Given the description of an element on the screen output the (x, y) to click on. 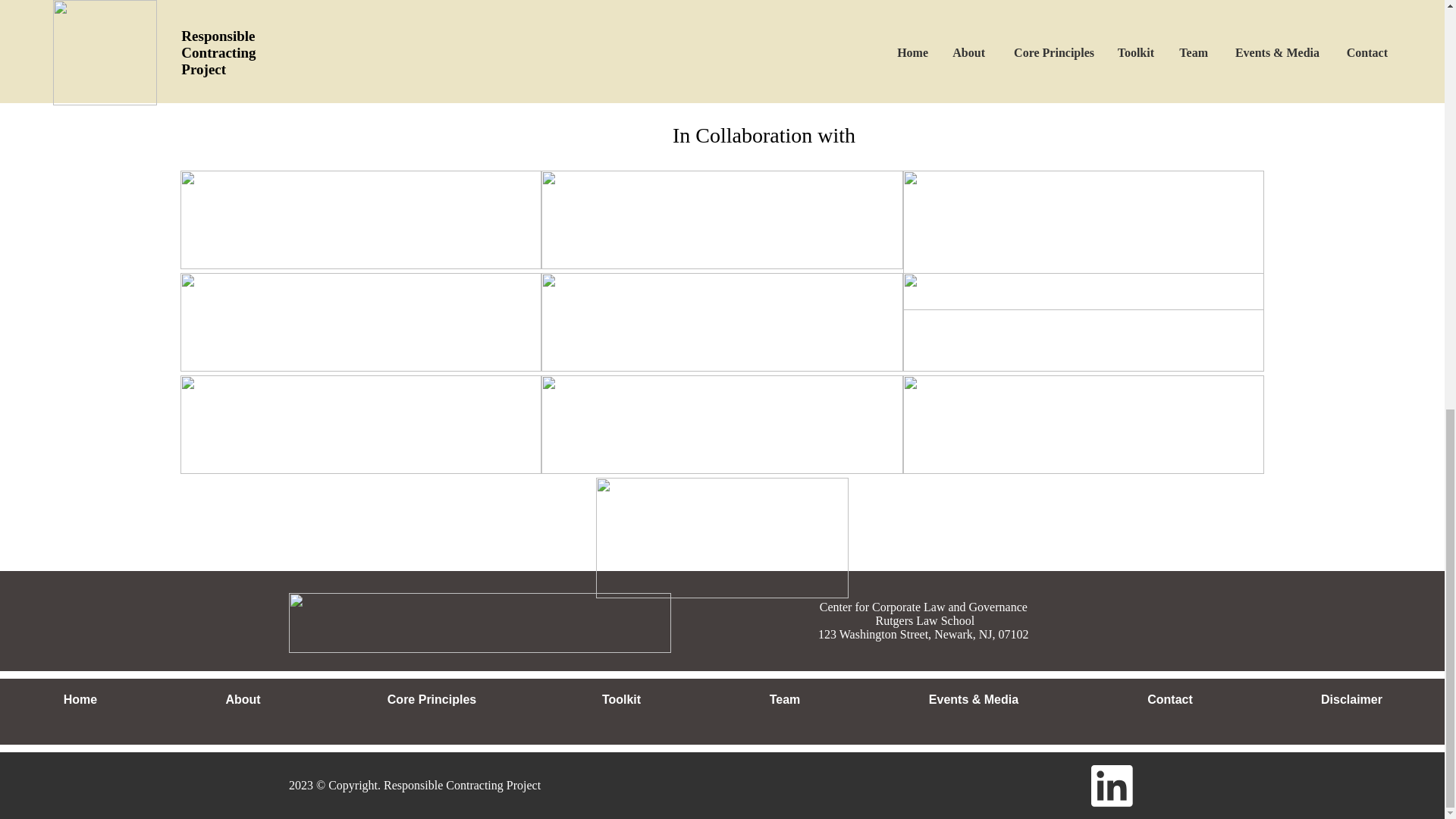
Toolkit (620, 699)
About (242, 699)
Home (80, 699)
Core Principles (431, 699)
Contact (1169, 699)
Team (783, 699)
